Given the description of an element on the screen output the (x, y) to click on. 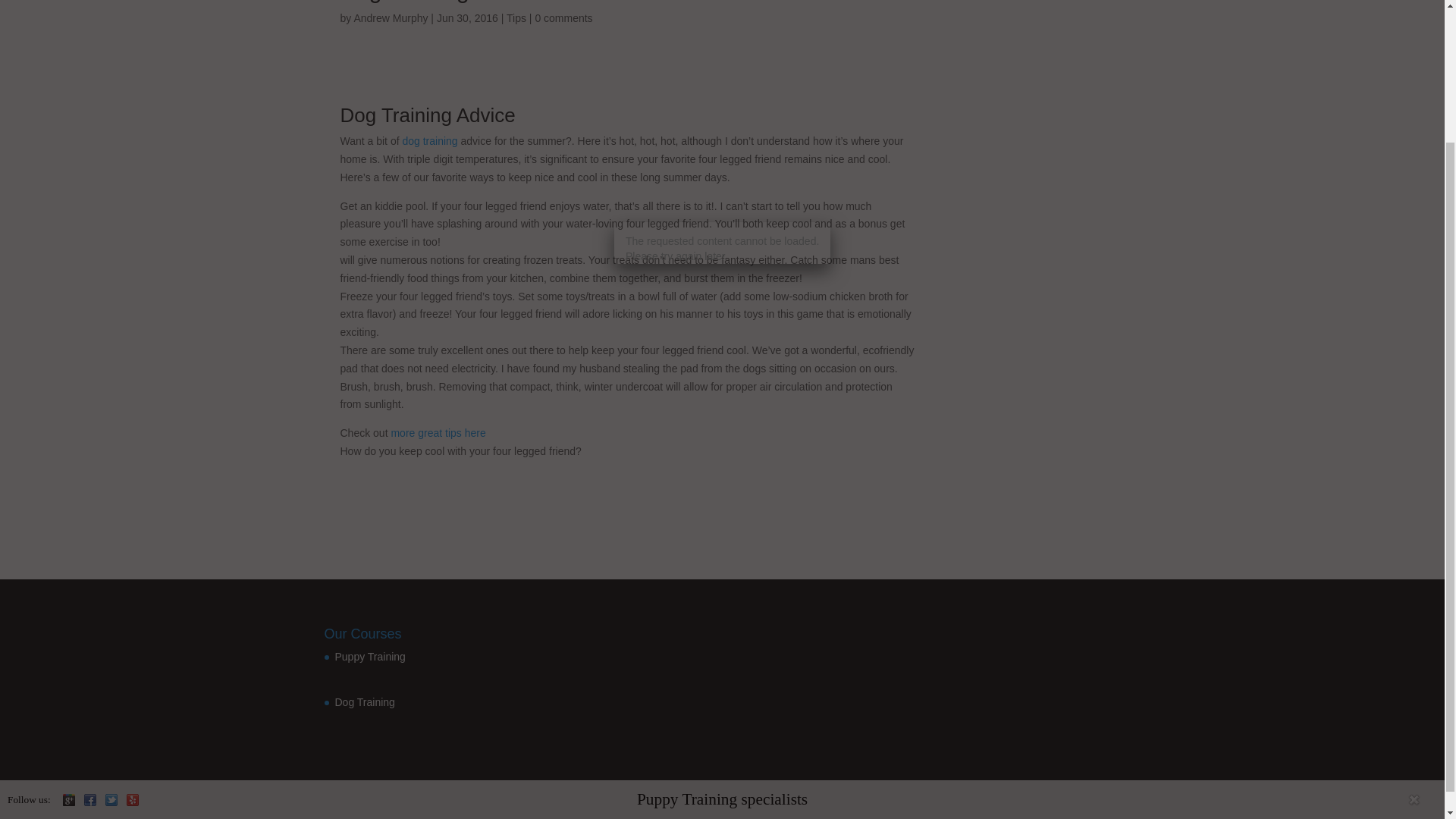
Dog Training (364, 713)
Dog Training (395, 115)
Andrew Murphy (390, 18)
Puppy Training (370, 668)
Tips (515, 18)
dog training (429, 141)
more great tips here (437, 432)
Posts by Andrew Murphy (390, 18)
0 comments (563, 18)
